Given the description of an element on the screen output the (x, y) to click on. 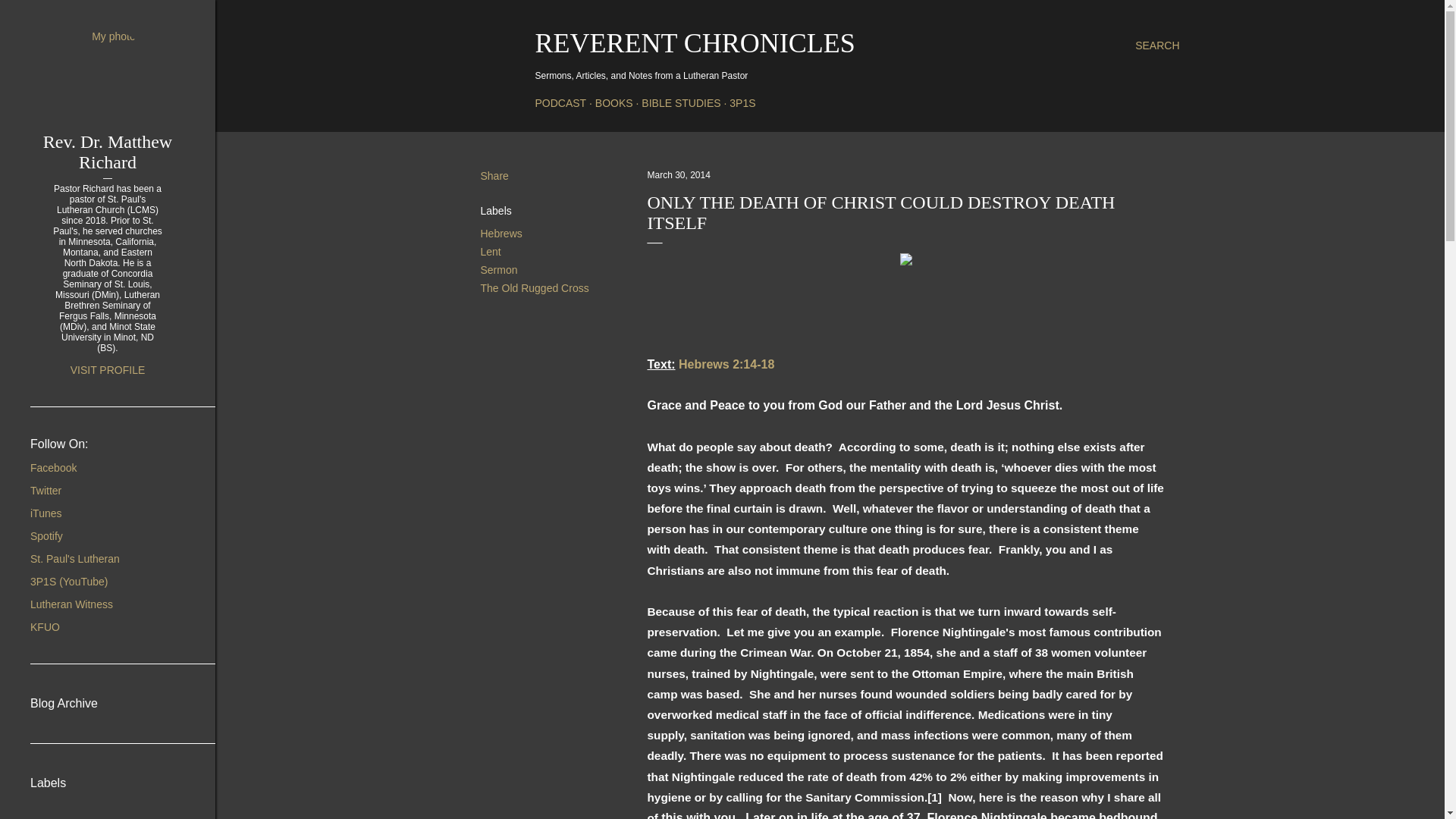
permanent link (678, 174)
Lutheran Witness (71, 604)
Rev. Dr. Matthew Richard (107, 151)
VISIT PROFILE (107, 369)
Lent (490, 251)
BOOKS (614, 102)
Twitter (45, 490)
iTunes (46, 512)
SEARCH (1157, 45)
Sermon (499, 269)
Share (494, 175)
St. Paul's Lutheran (74, 558)
Hebrews (501, 233)
March 30, 2014 (678, 174)
The Old Rugged Cross (534, 287)
